Given the description of an element on the screen output the (x, y) to click on. 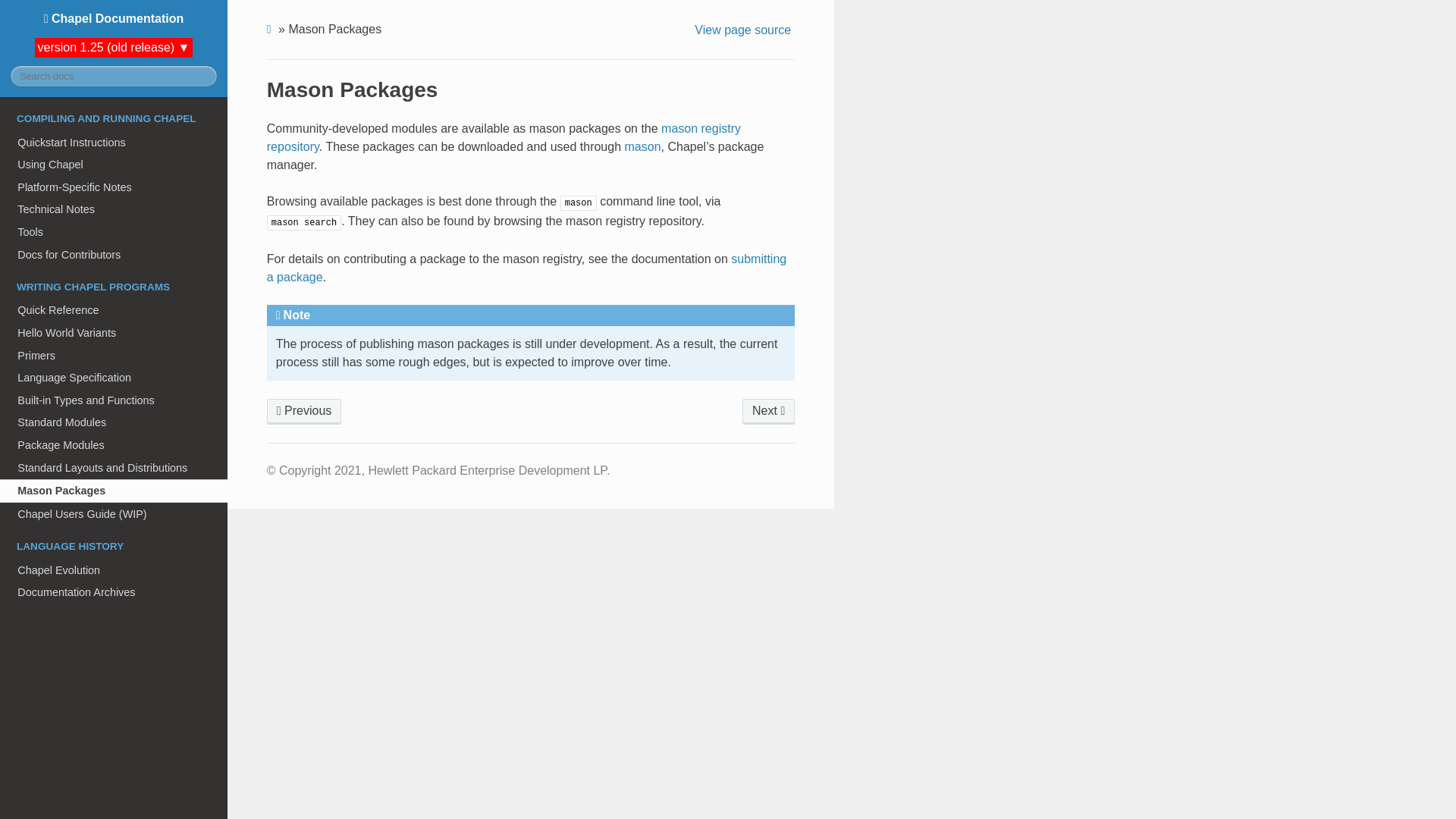
Previous (304, 411)
Chapel Evolution (113, 569)
Quickstart Instructions (113, 142)
ReplicatedDim (304, 411)
Standard Layouts and Distributions (113, 467)
mason registry repository (503, 137)
Chapel Documentation (114, 18)
Built-in Types and Functions (113, 400)
Next (768, 411)
Hello World Variants (113, 332)
